Given the description of an element on the screen output the (x, y) to click on. 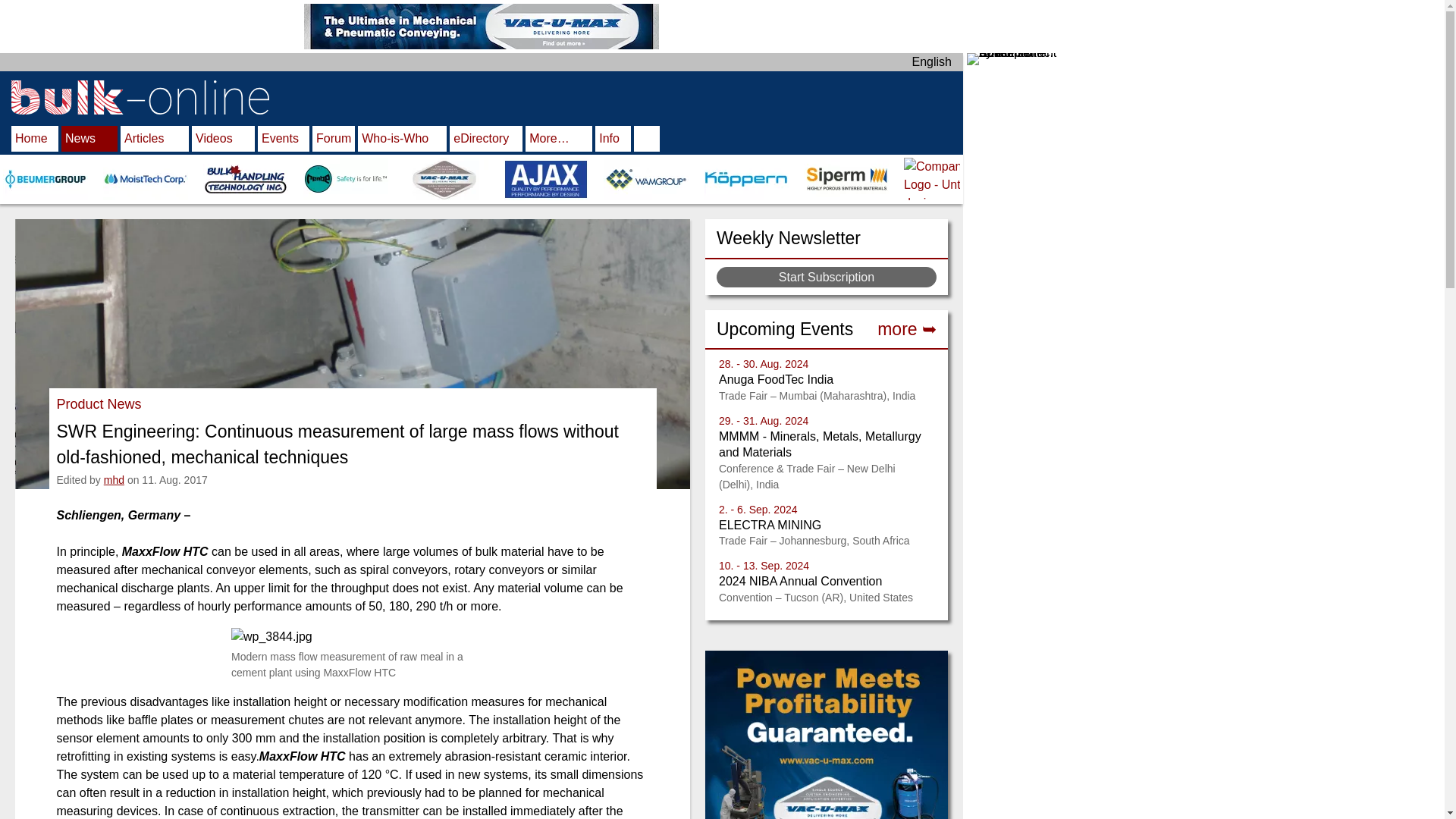
Link to the bulk-online event directory (906, 329)
Link to the bulk-online user forum (334, 140)
Home (34, 140)
